Given the description of an element on the screen output the (x, y) to click on. 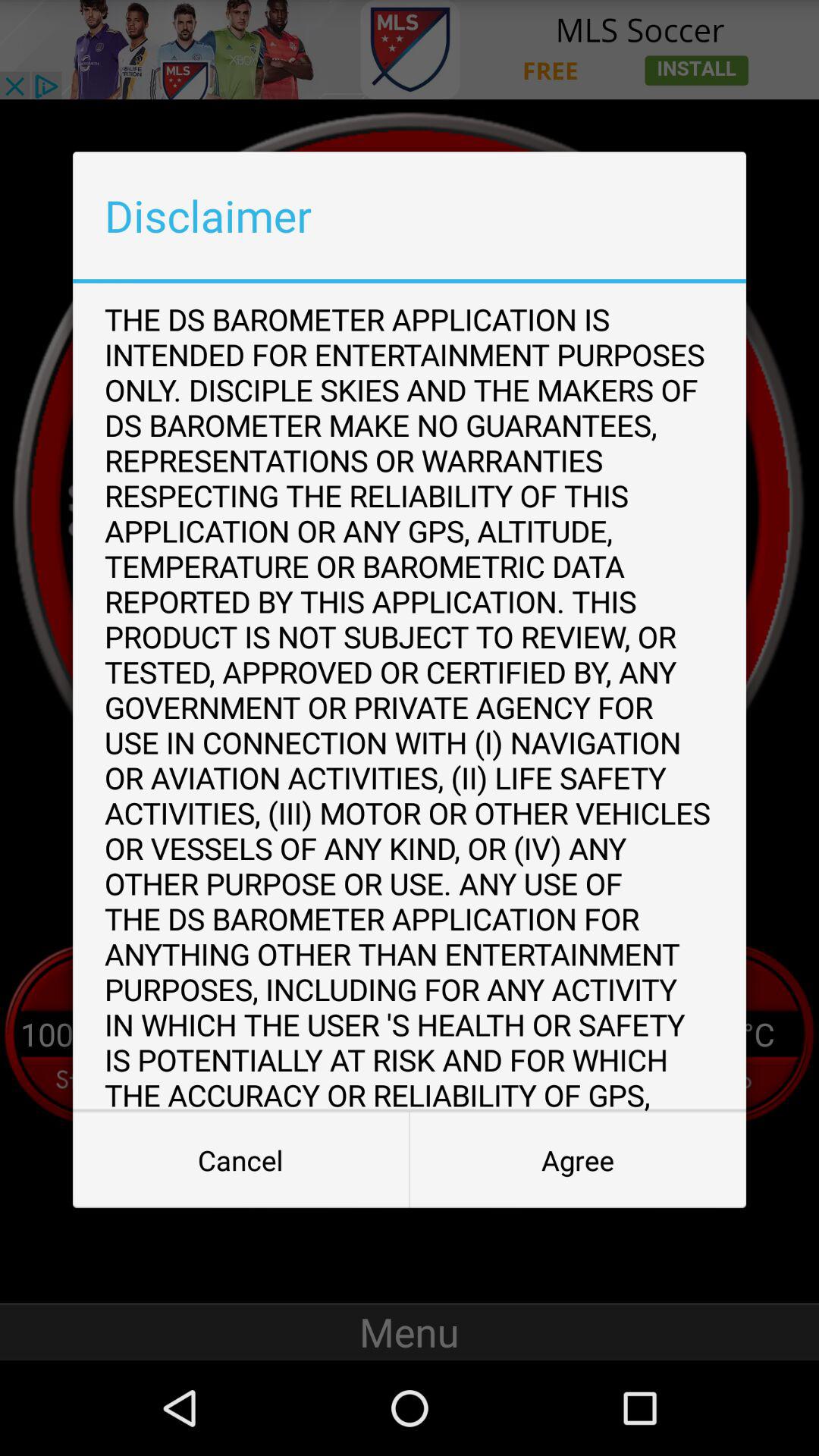
choose the item at the bottom right corner (578, 1160)
